Given the description of an element on the screen output the (x, y) to click on. 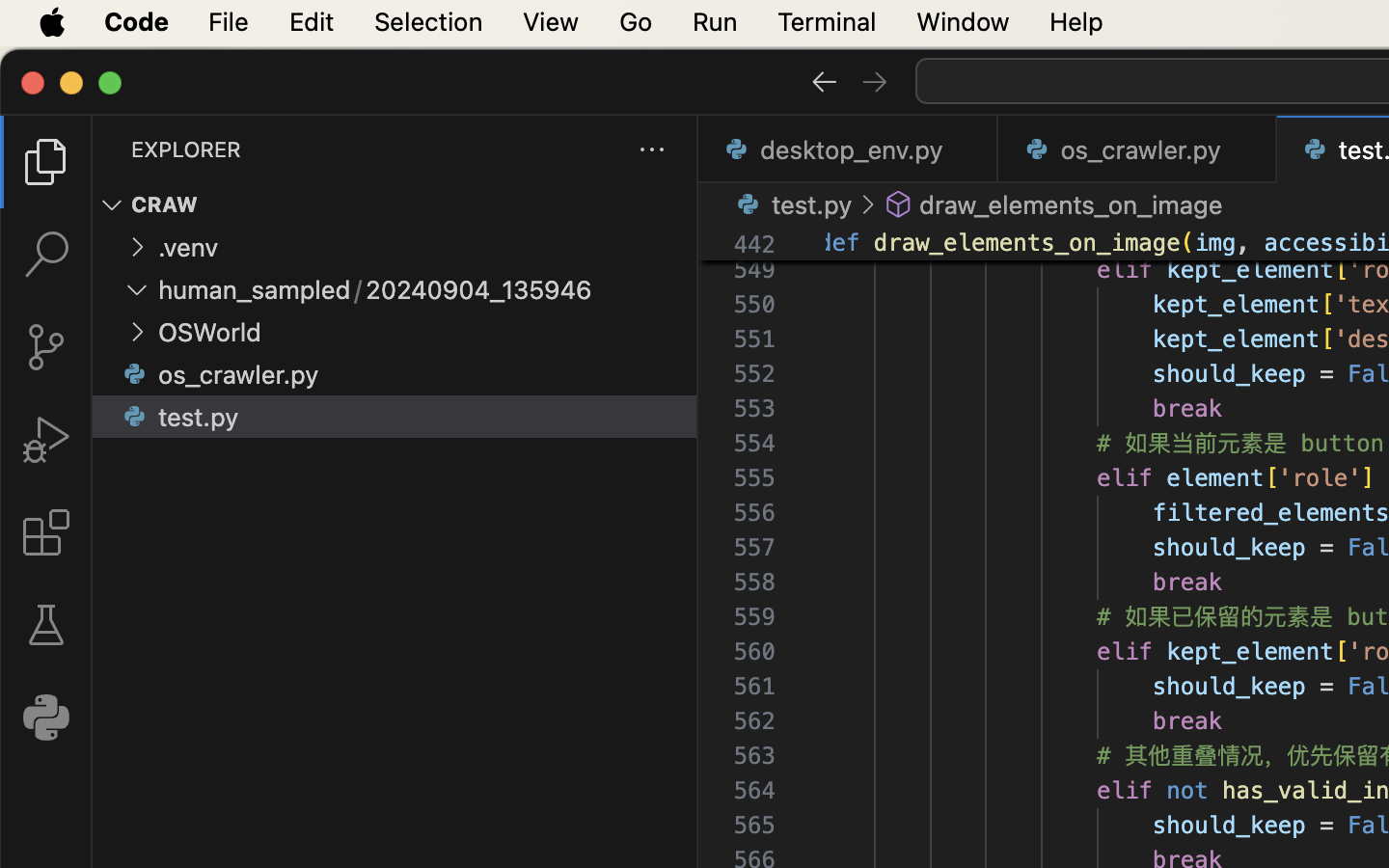
 Element type: AXStaticText (111, 204)
 Element type: AXStaticText (898, 204)
draw_elements_on_image Element type: AXStaticText (1026, 242)
, Element type: AXStaticText (1250, 242)
0  Element type: AXRadioButton (46, 624)
